Given the description of an element on the screen output the (x, y) to click on. 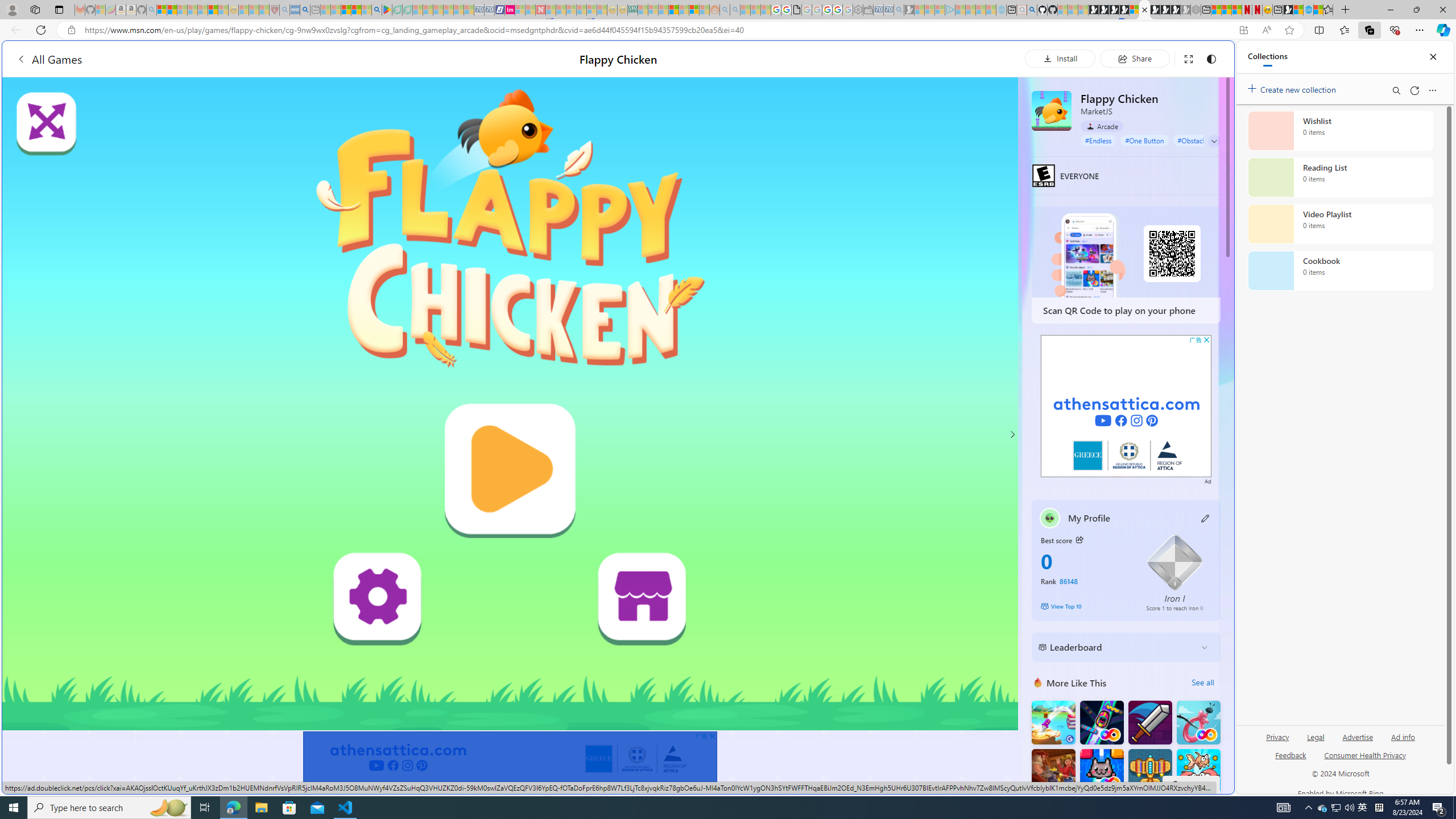
Dungeon Master Knight (1149, 722)
Close split screen (1208, 57)
AutomationID: cbb (1206, 339)
